Given the description of an element on the screen output the (x, y) to click on. 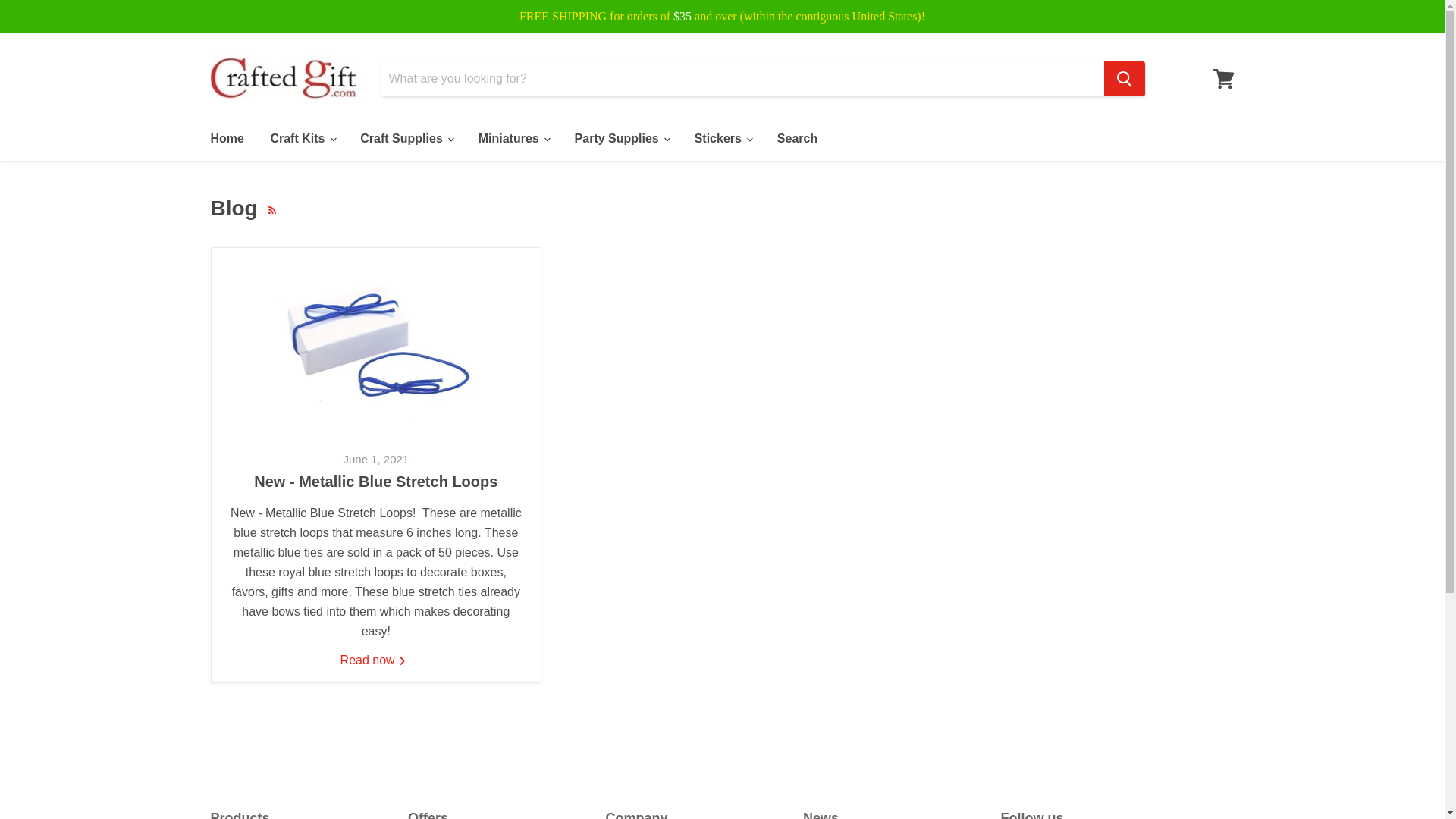
View cart (1223, 78)
Craft Kits (302, 138)
Craft Supplies (406, 138)
Home (226, 138)
